Given the description of an element on the screen output the (x, y) to click on. 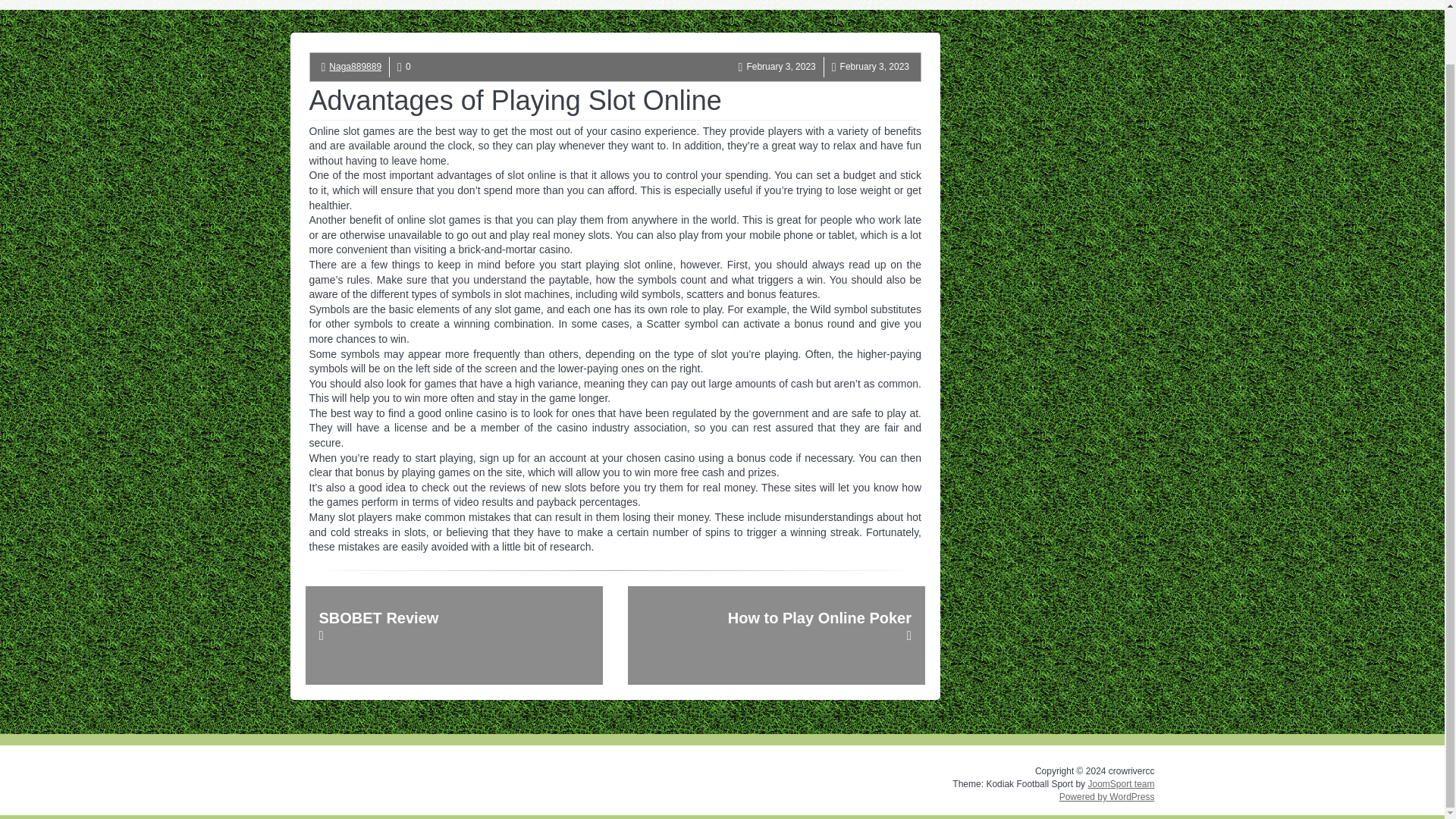
SBOBET (1055, 4)
Pengeluaran HK (771, 4)
Keluaran HK (918, 4)
Naga889889 (355, 66)
SBOBET88 (991, 4)
JoomSport team (1120, 783)
Pengeluaran HK (771, 4)
SBOBET88 (991, 4)
Data SDY (849, 4)
 The Best WordPress Sport Plugin for your league and club  (1120, 783)
Keluaran HK (918, 4)
TO TOP (723, 718)
SBOBET Review (453, 635)
SBOBET (1055, 4)
Powered by WordPress (1106, 796)
